Given the description of an element on the screen output the (x, y) to click on. 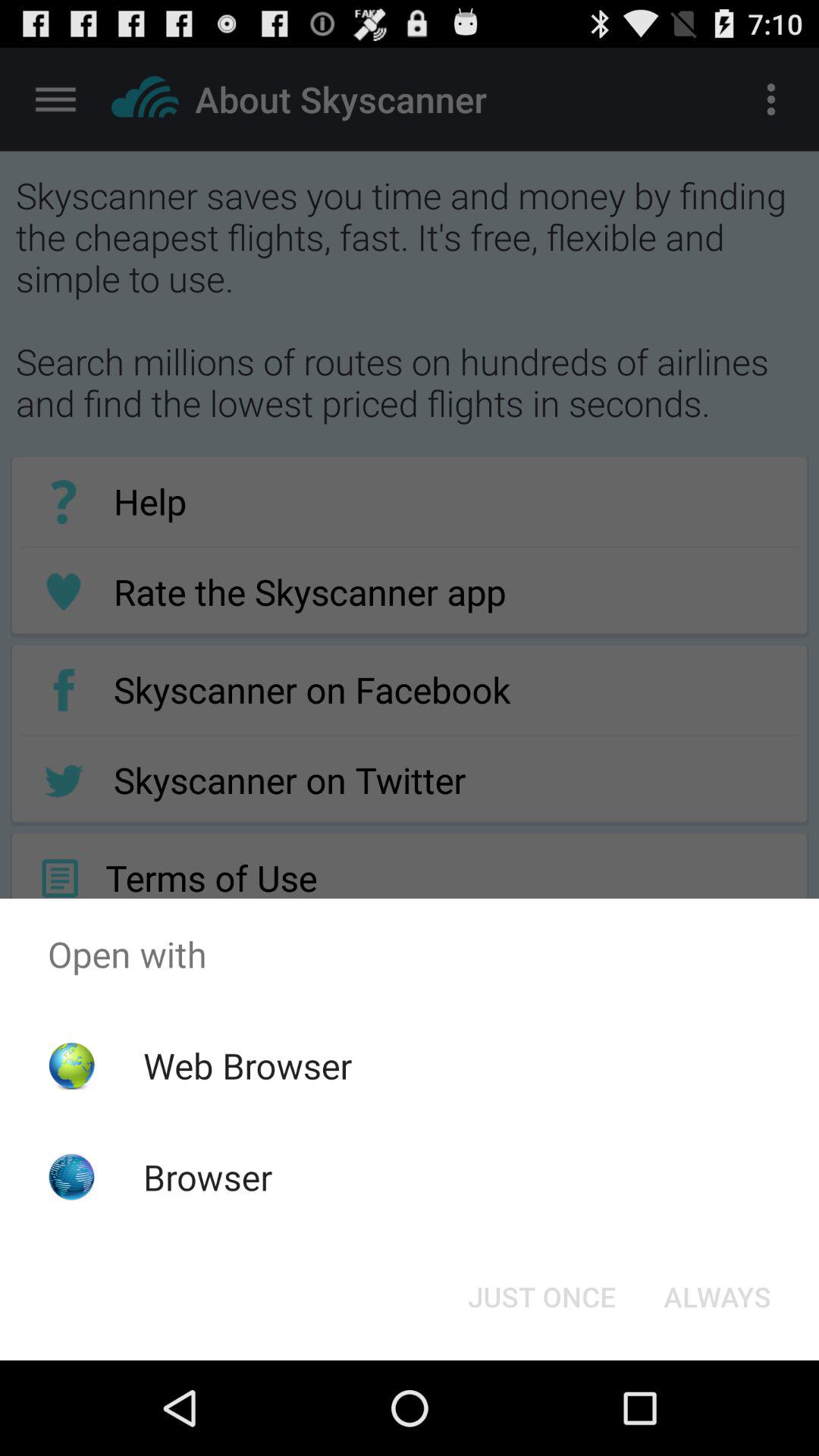
press always button (717, 1296)
